Given the description of an element on the screen output the (x, y) to click on. 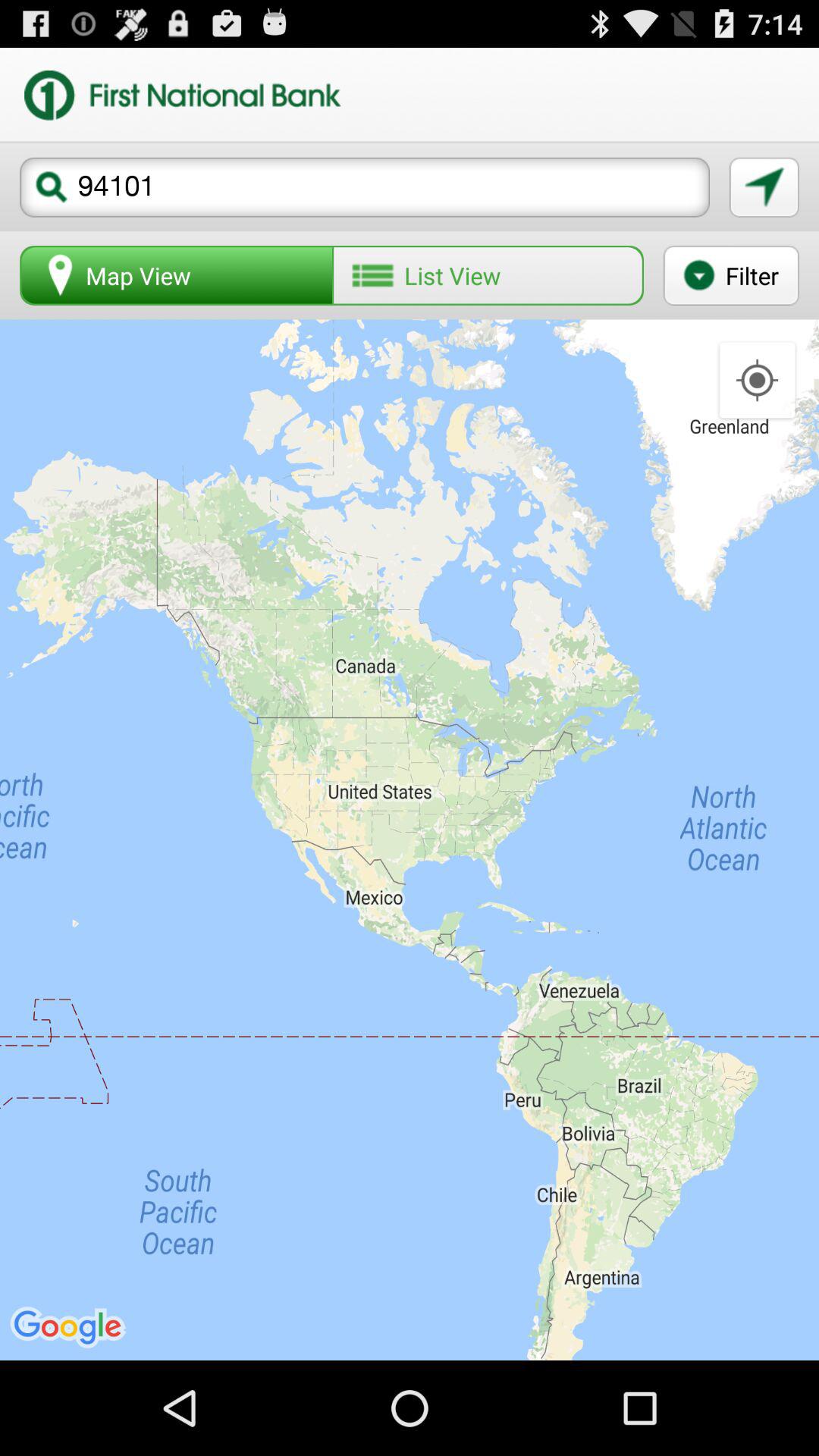
press item below the map view button (409, 839)
